Given the description of an element on the screen output the (x, y) to click on. 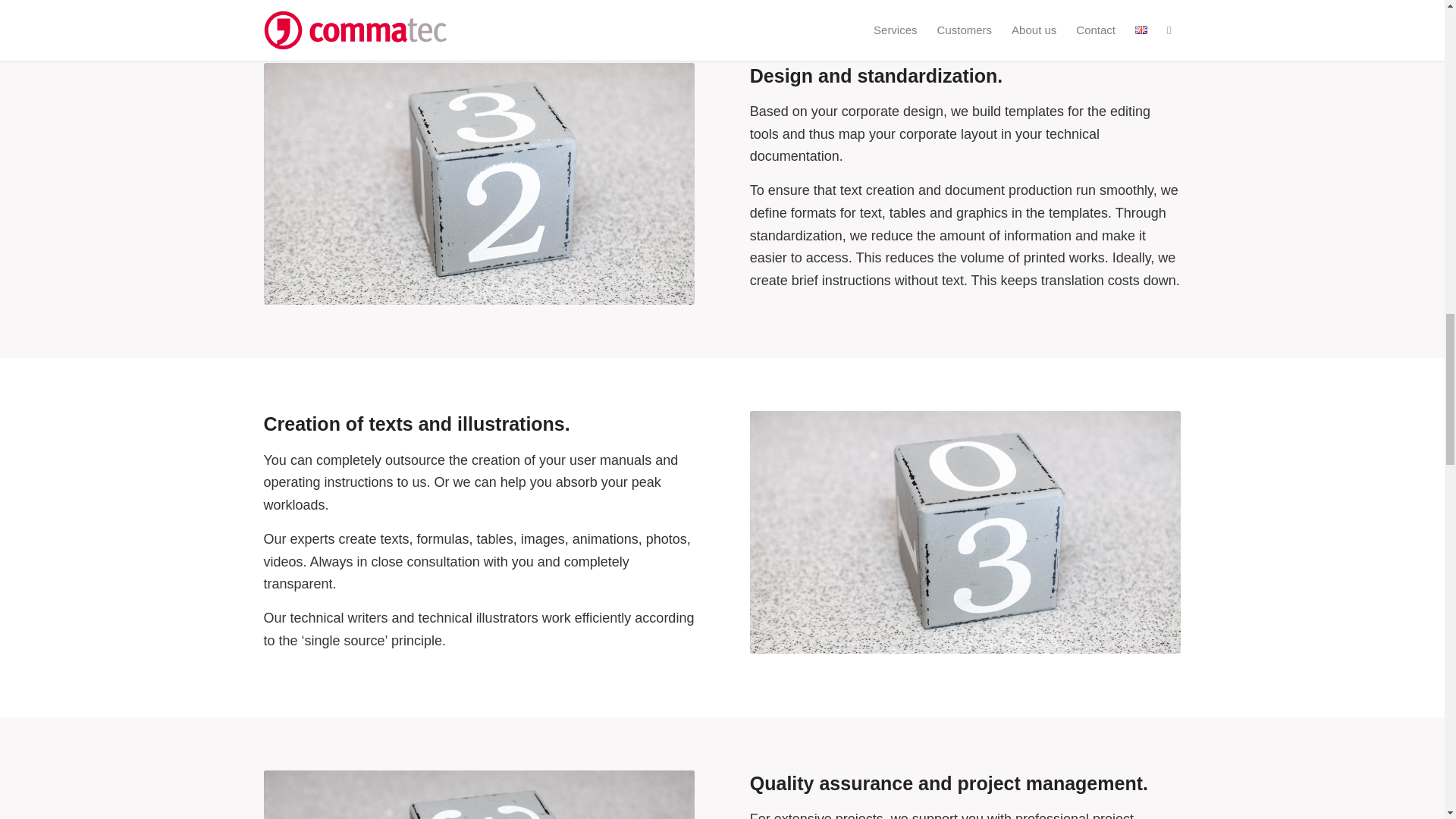
w-3 (964, 532)
w-4 (479, 794)
w-2 (479, 184)
